Given the description of an element on the screen output the (x, y) to click on. 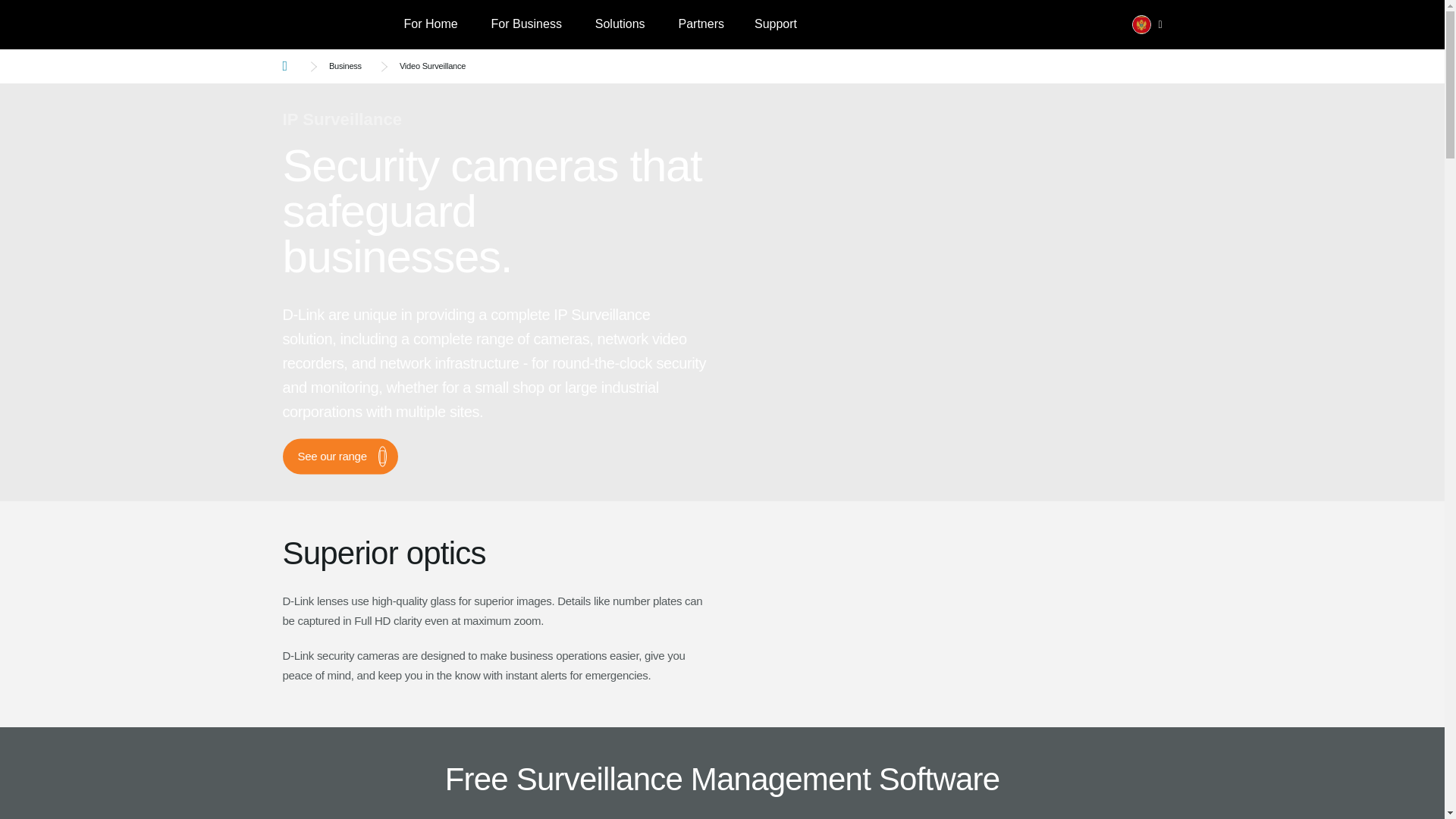
Partners (700, 24)
Solutions (620, 24)
D-Link (335, 24)
For Business (526, 24)
For Home (429, 24)
Support (775, 24)
